Given the description of an element on the screen output the (x, y) to click on. 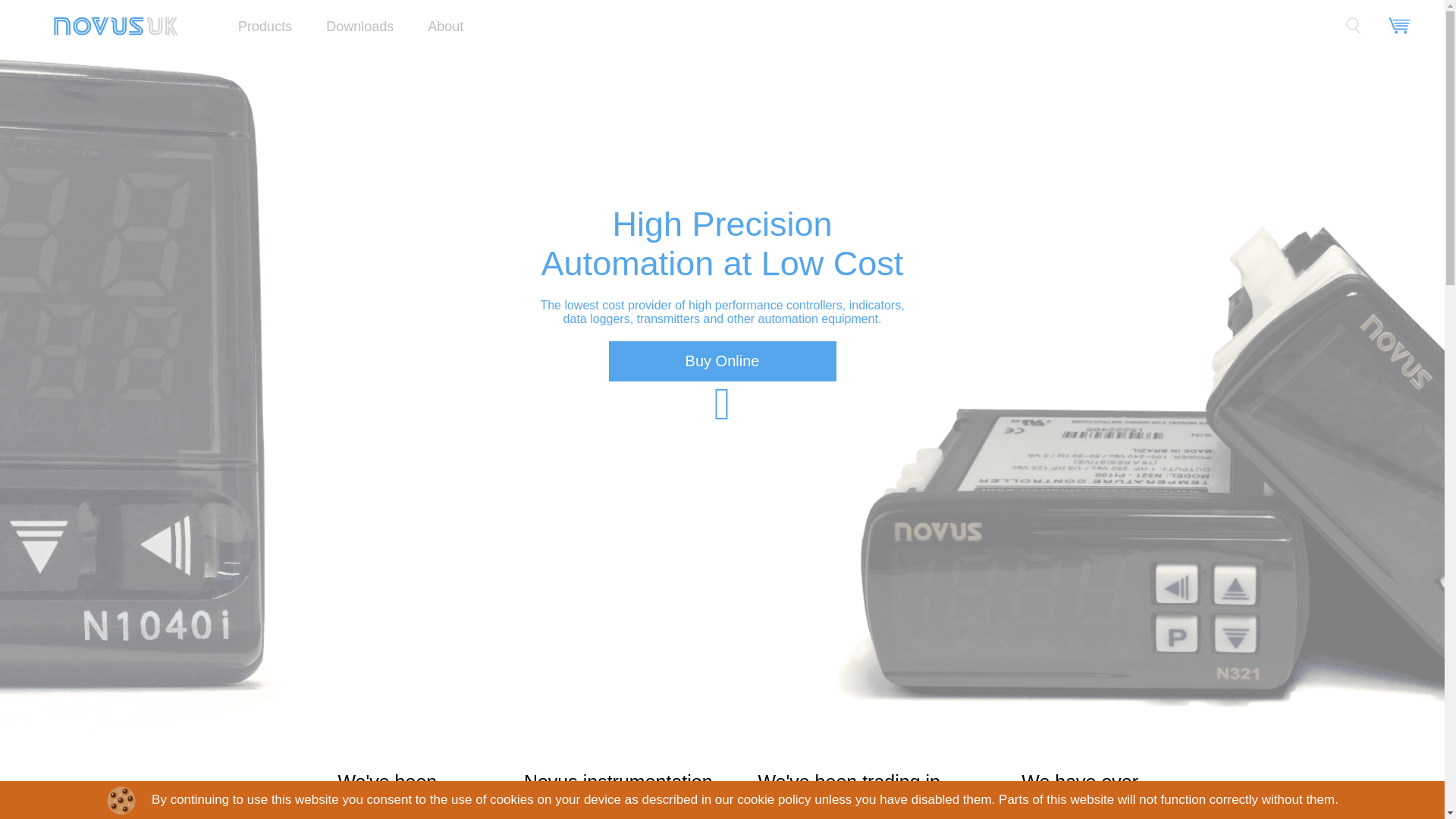
Downloads (360, 26)
About (445, 26)
Buy Online (721, 361)
Products (264, 26)
